Given the description of an element on the screen output the (x, y) to click on. 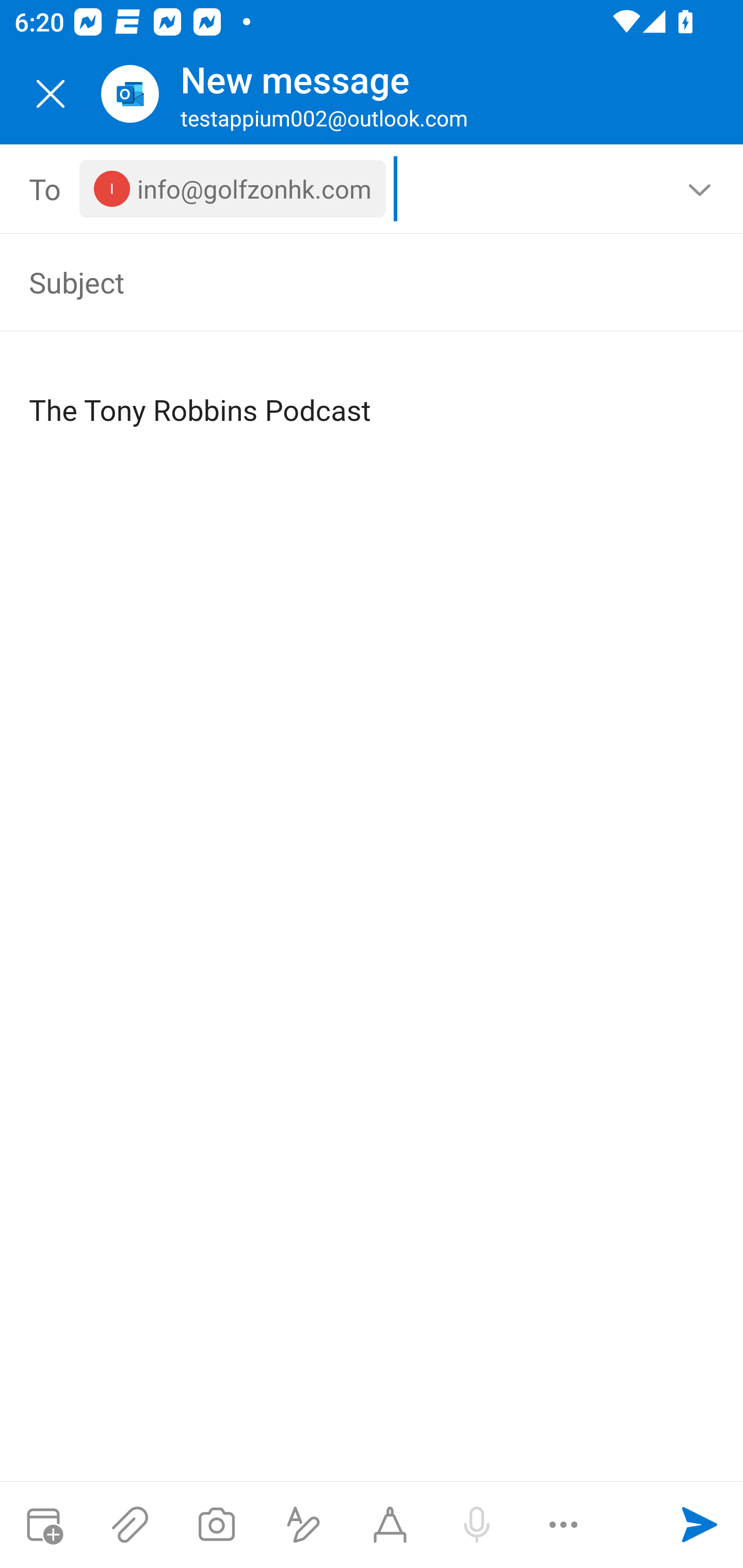
Close (50, 93)
Subject (342, 281)

The Tony Robbins Podcast (372, 394)
Attach meeting (43, 1524)
Attach files (129, 1524)
Take a photo (216, 1524)
Show formatting options (303, 1524)
Start Ink compose (389, 1524)
More options (563, 1524)
Send (699, 1524)
